Given the description of an element on the screen output the (x, y) to click on. 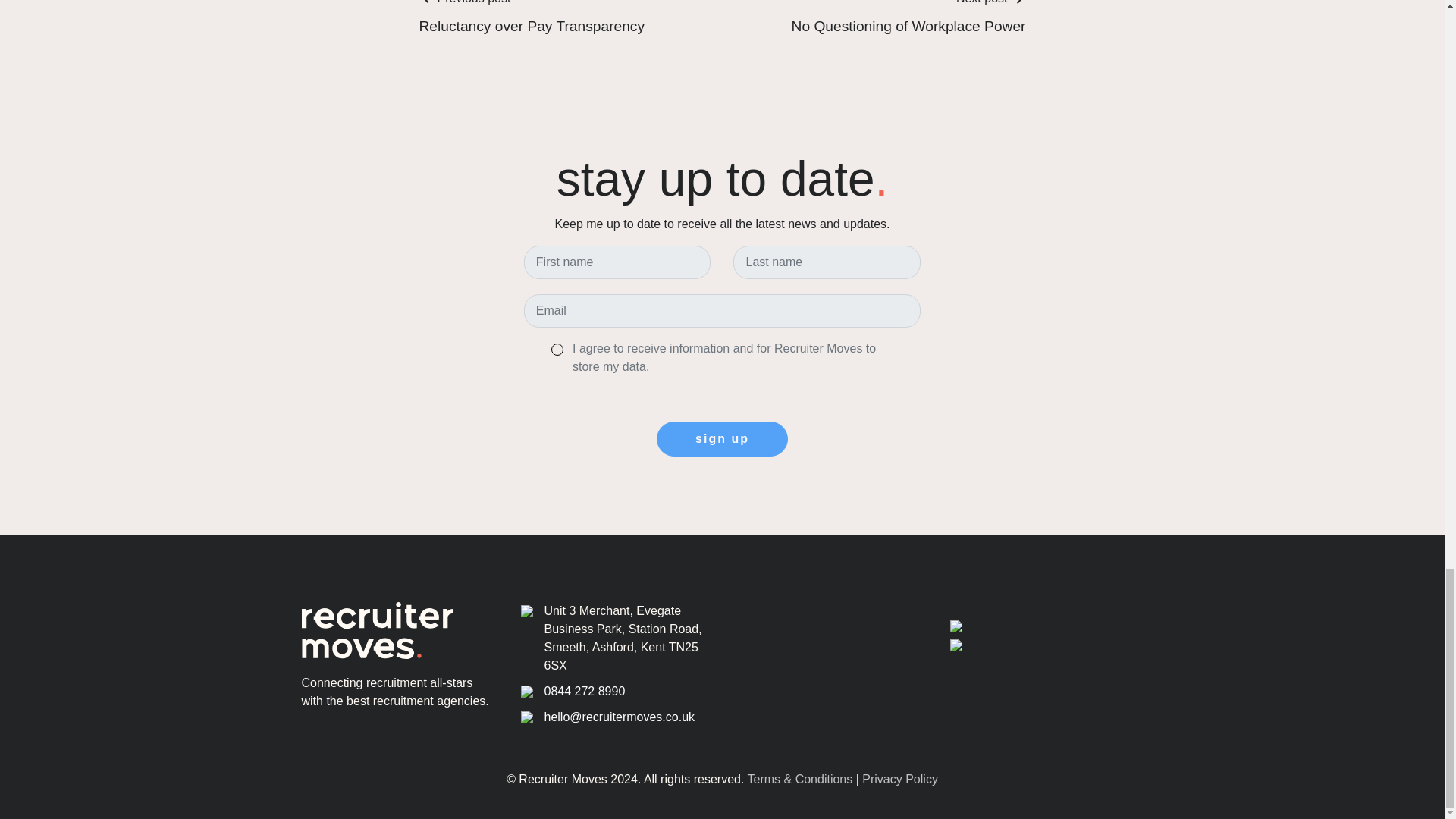
0844 272 8990 (585, 690)
Privacy Policy (899, 779)
sign up (532, 18)
